Given the description of an element on the screen output the (x, y) to click on. 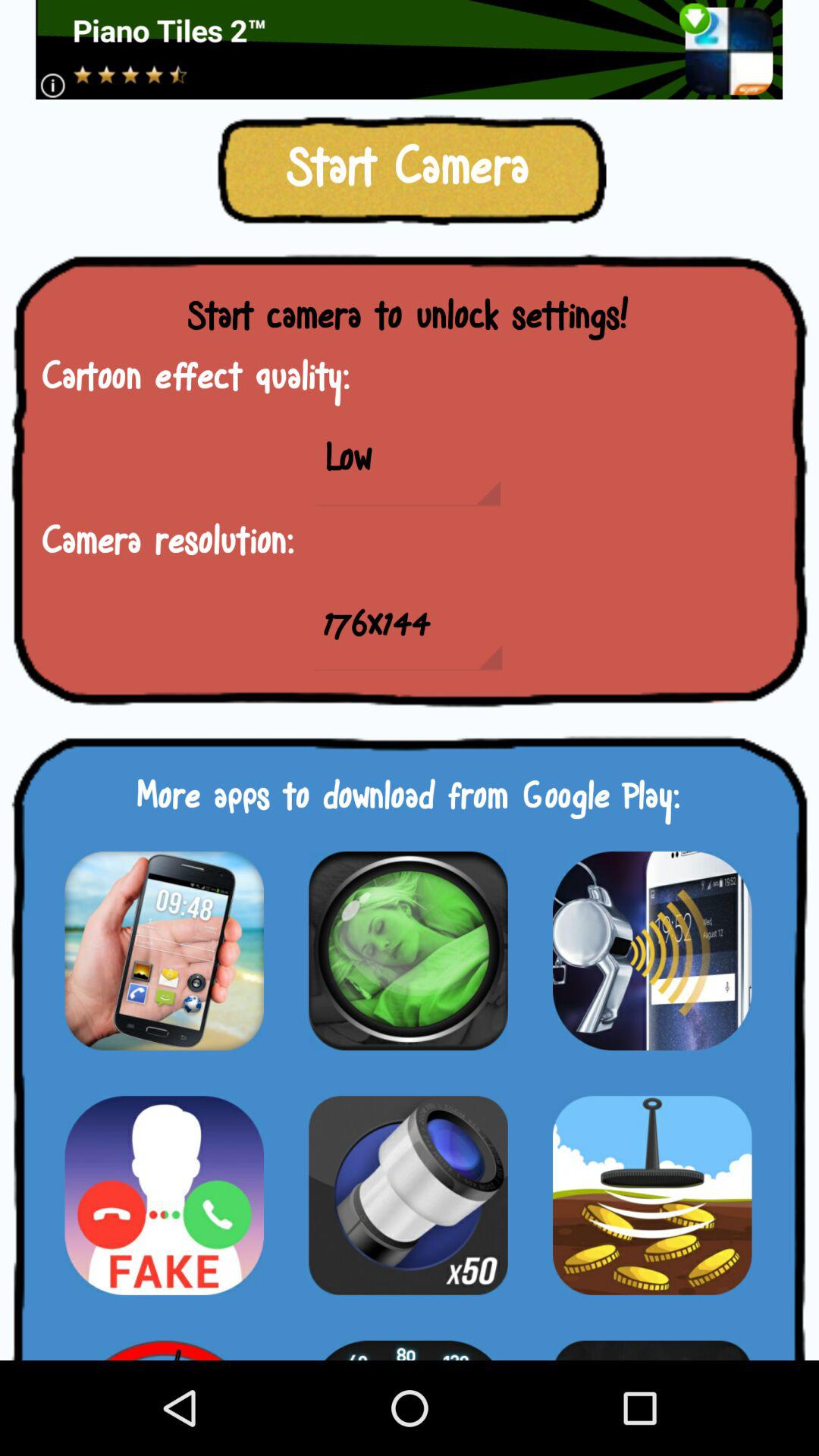
advertisement option (408, 49)
